Given the description of an element on the screen output the (x, y) to click on. 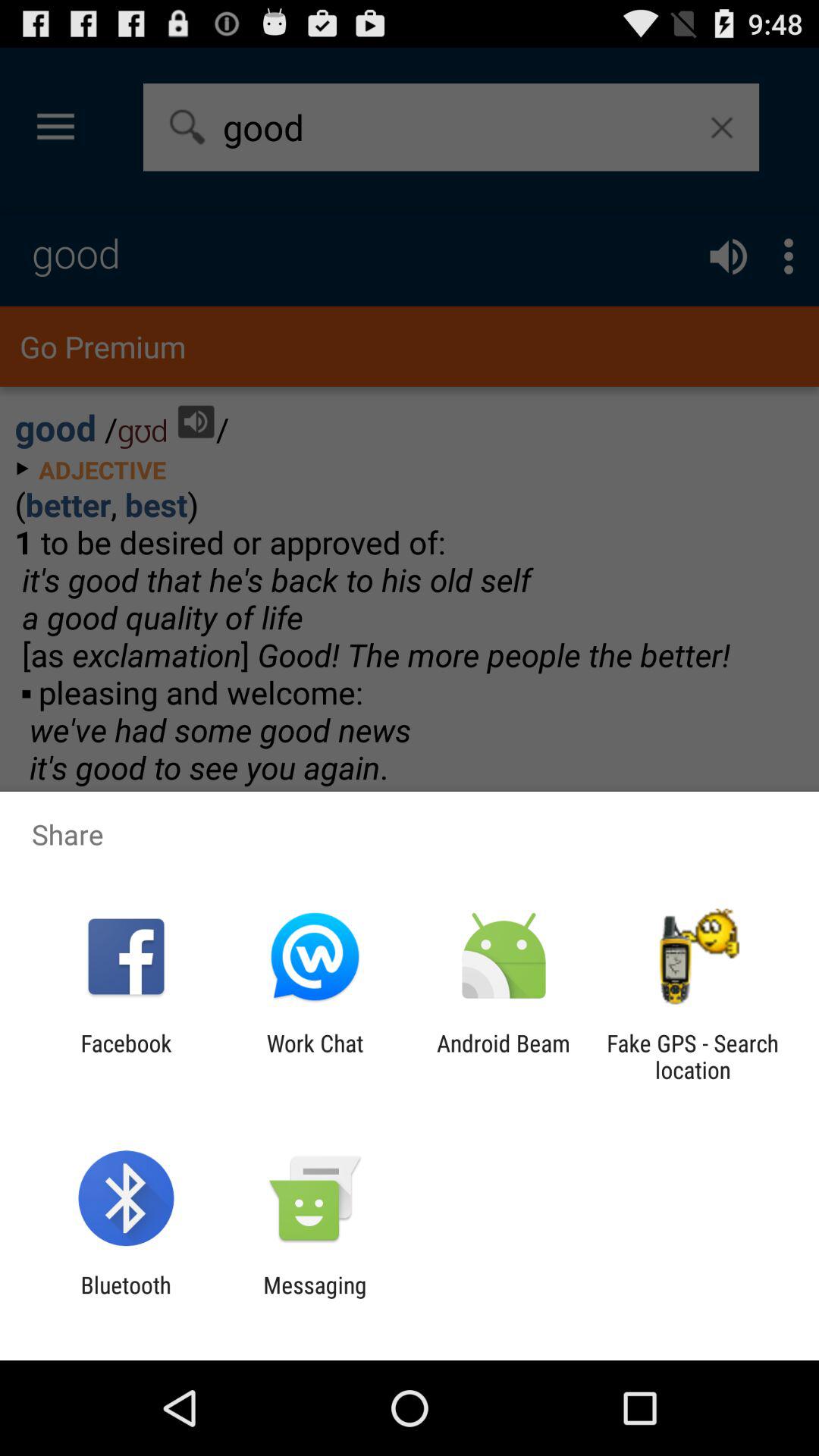
turn on the icon next to facebook icon (314, 1056)
